Given the description of an element on the screen output the (x, y) to click on. 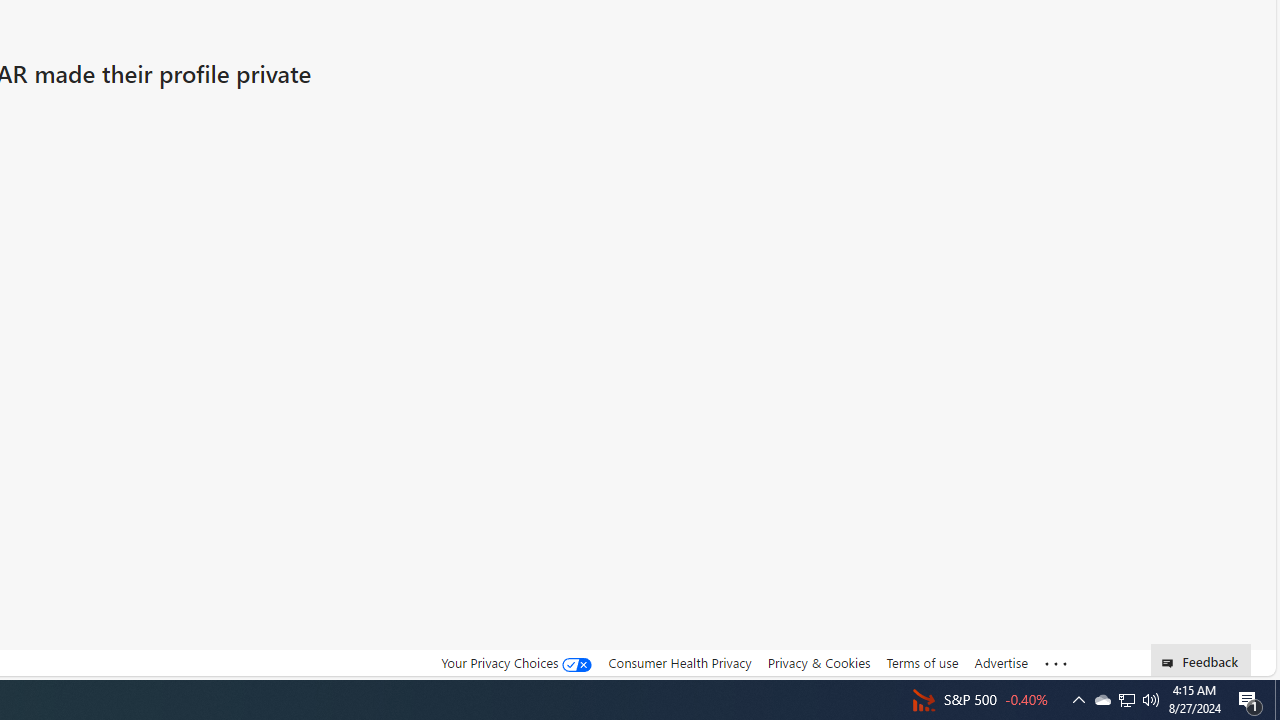
Class: oneFooter_seeMore-DS-EntryPoint1-1 (1055, 663)
Class: feedback_link_icon-DS-EntryPoint1-1 (1170, 663)
